Given the description of an element on the screen output the (x, y) to click on. 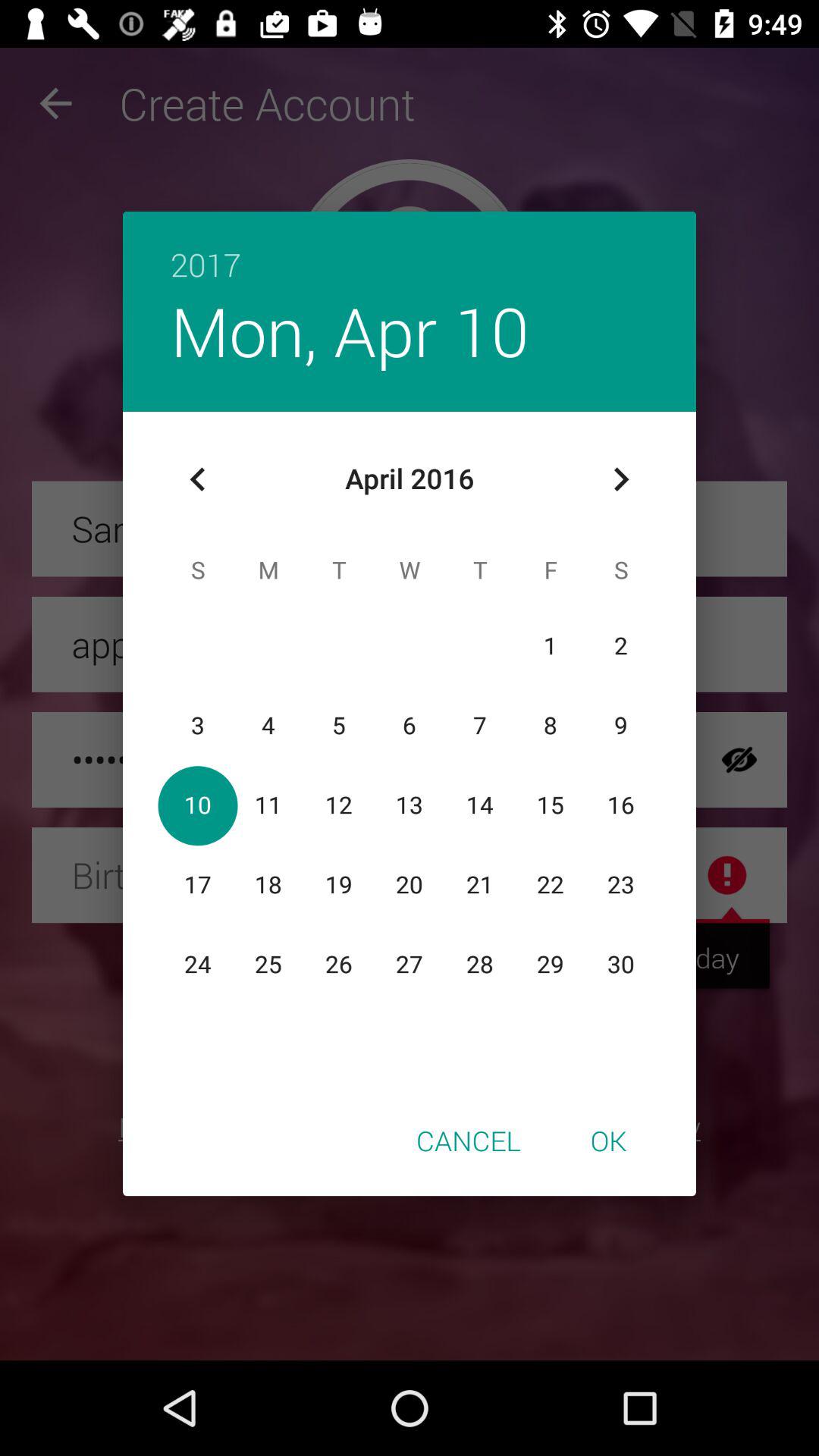
turn on icon above ok item (620, 479)
